Given the description of an element on the screen output the (x, y) to click on. 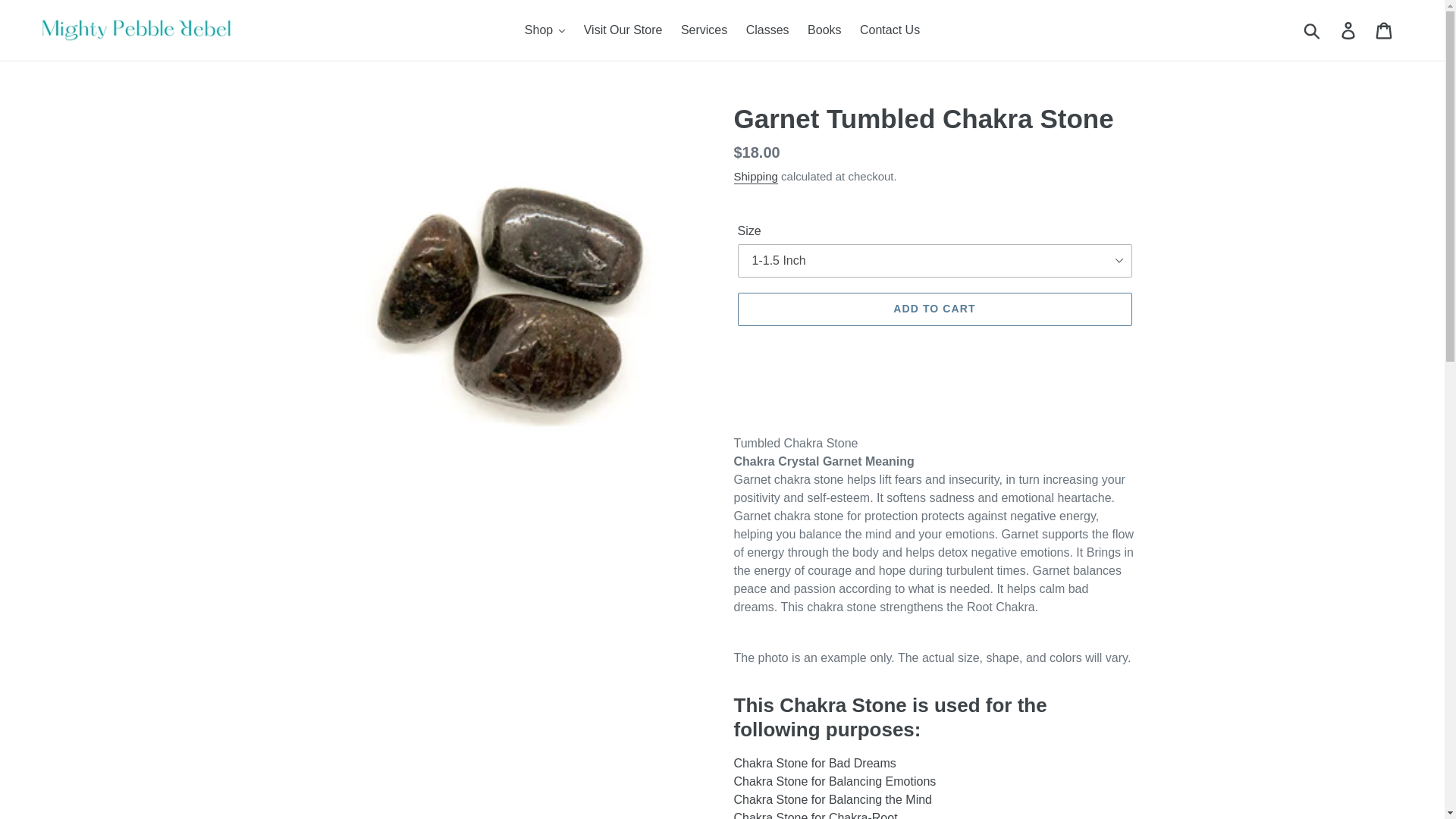
ADD TO CART (933, 308)
Log in (1349, 29)
Visit Our Store (622, 29)
Books (823, 29)
Classes (767, 29)
Services (703, 29)
Shipping (755, 176)
Contact Us (889, 29)
Submit (1313, 29)
Cart (1385, 29)
